Given the description of an element on the screen output the (x, y) to click on. 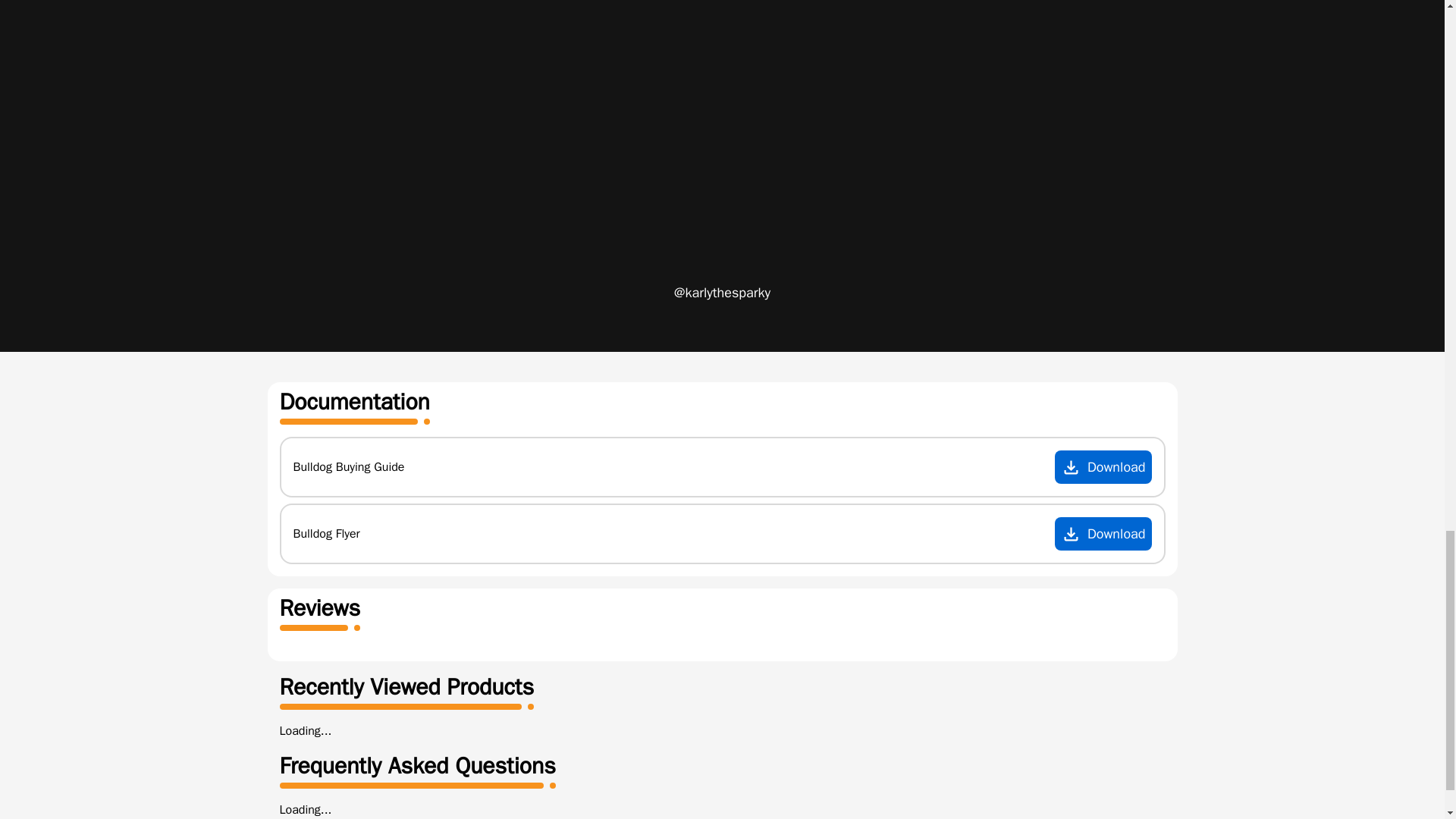
Download (1102, 533)
Download (1102, 467)
